Given the description of an element on the screen output the (x, y) to click on. 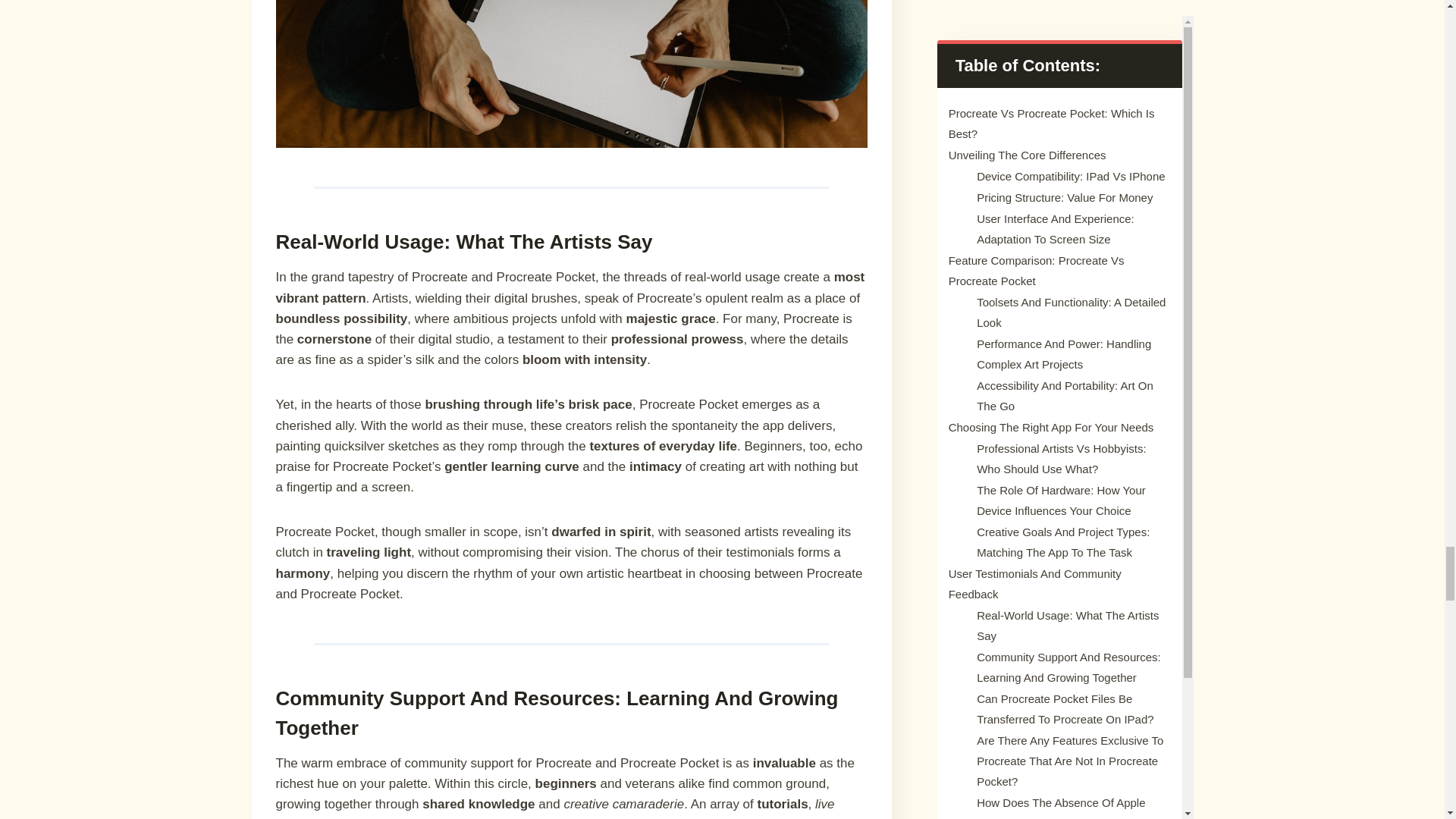
Procreate: Woman Drawing on iPad with Apple Pencil (571, 74)
